Given the description of an element on the screen output the (x, y) to click on. 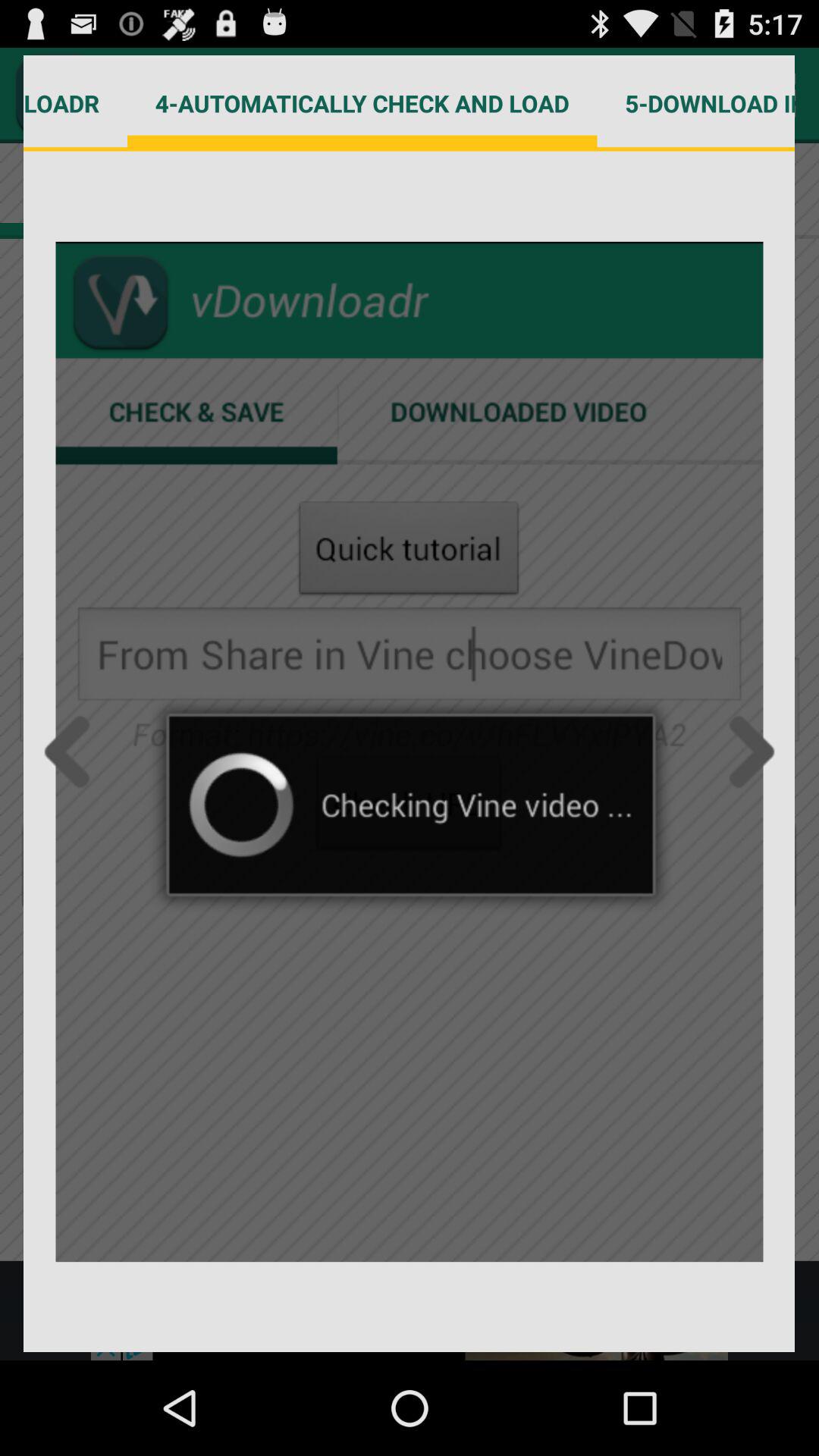
jump until 3-choose vdownloadr (75, 103)
